Given the description of an element on the screen output the (x, y) to click on. 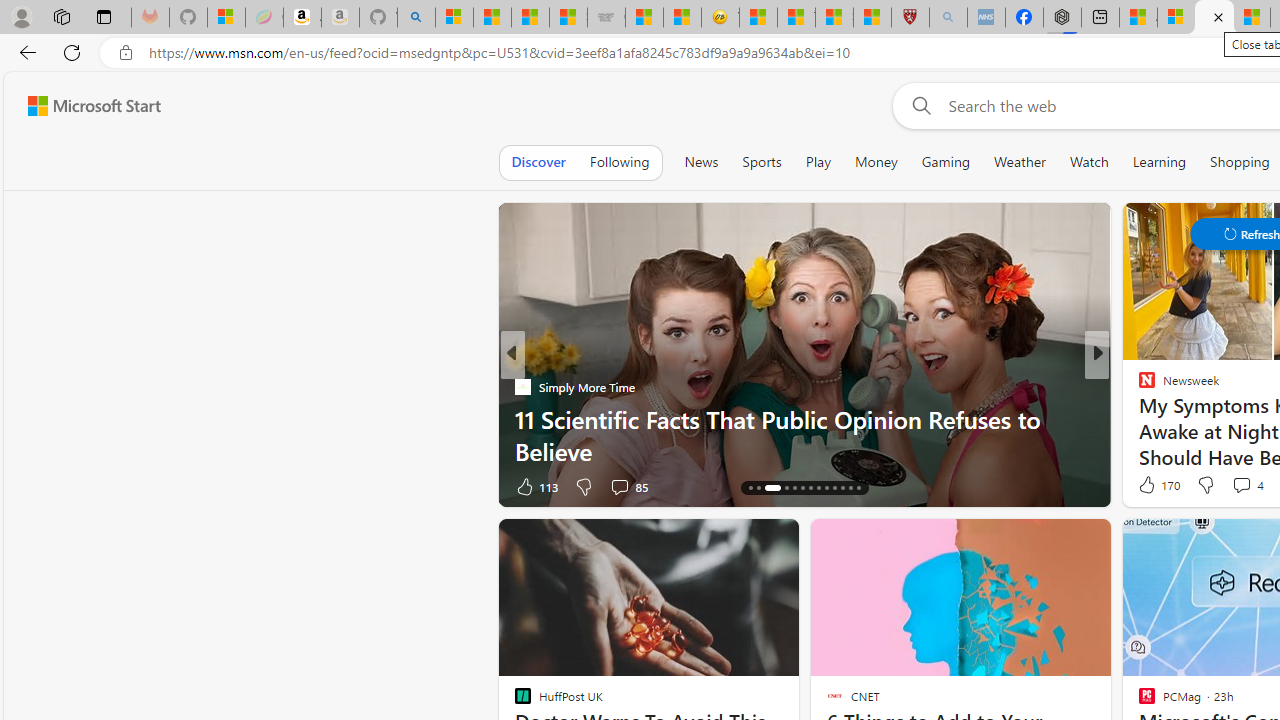
170 Like (1157, 484)
Hide this story (1169, 542)
28 Like (1149, 486)
View comments 5 Comment (1229, 485)
View comments 73 Comment (1234, 485)
AutomationID: tab-17 (786, 487)
View comments 5 Comment (1234, 486)
121 Like (1151, 486)
Shopping (1240, 161)
Million Dollar Sense (1138, 418)
Play (817, 161)
